Given the description of an element on the screen output the (x, y) to click on. 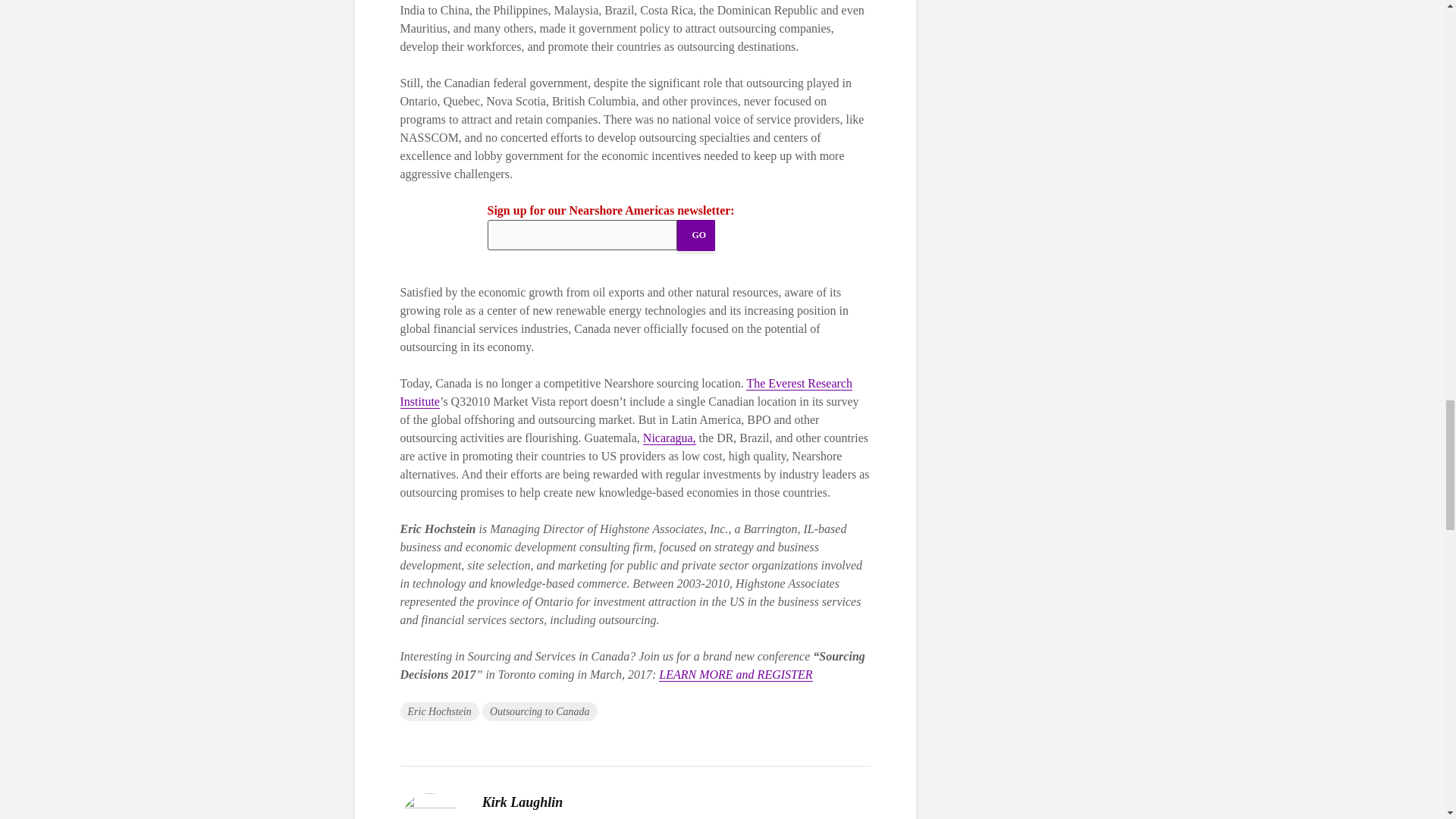
Nicaragua, (669, 438)
The Everest Research Institute (625, 392)
Go (695, 235)
LEARN MORE and REGISTER (735, 674)
Eric Hochstein (439, 711)
Go (695, 235)
Outsourcing to Canada (538, 711)
